Given the description of an element on the screen output the (x, y) to click on. 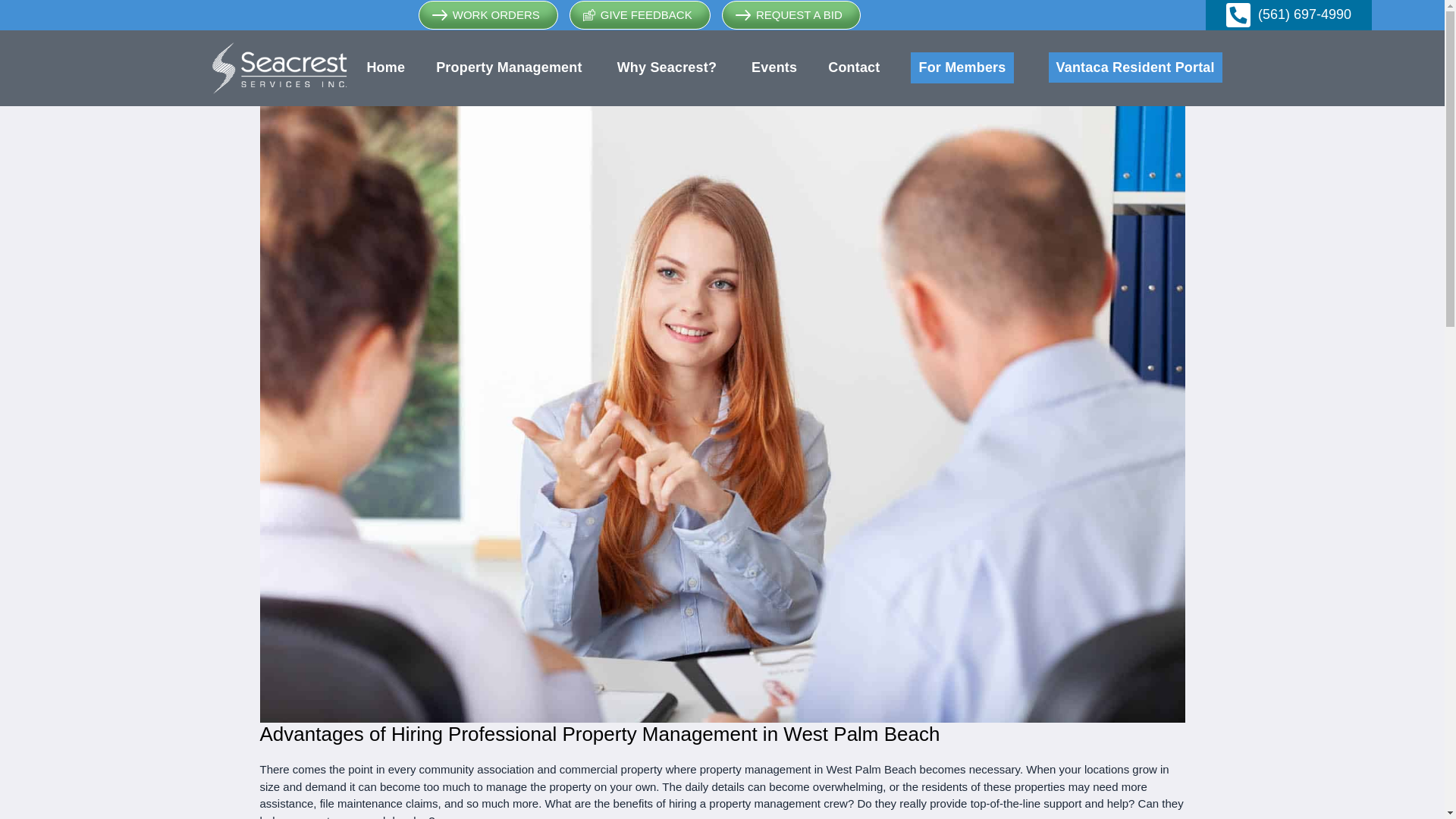
REQUEST A BID (791, 14)
Events (773, 67)
Vantaca Resident Portal (1135, 67)
Contact (853, 67)
WORK ORDERS (488, 14)
Home (385, 67)
GIVE FEEDBACK (639, 14)
